Given the description of an element on the screen output the (x, y) to click on. 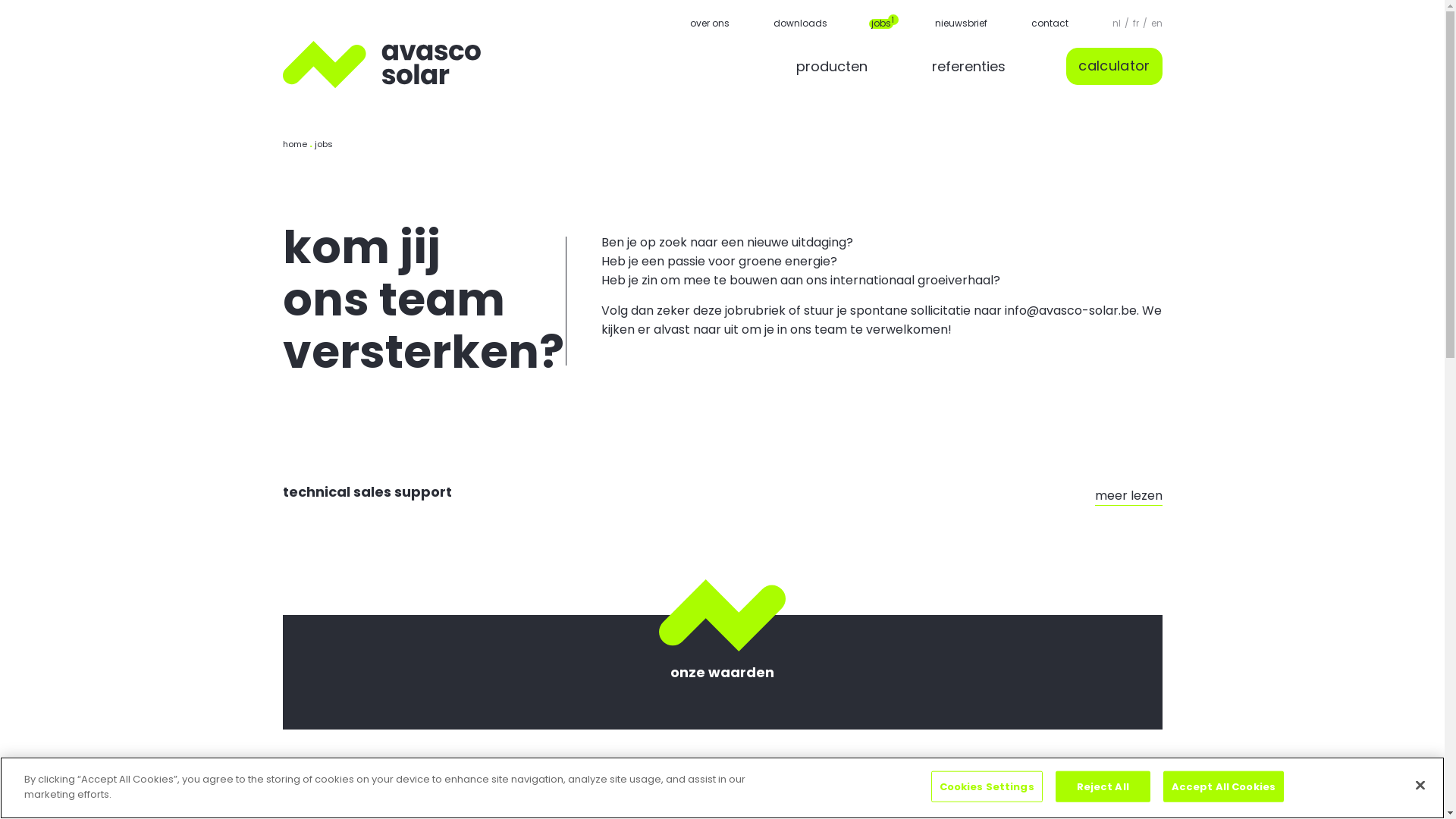
calculator Element type: text (1113, 65)
downloads Element type: text (800, 22)
nl Element type: text (1115, 22)
over ons Element type: text (709, 22)
contact Element type: text (1049, 22)
producten Element type: text (831, 65)
referenties Element type: text (968, 65)
Cookies Settings Element type: text (986, 787)
fr Element type: text (1135, 22)
Overslaan en naar de inhoud gaan Element type: text (0, 0)
nieuwsbrief Element type: text (960, 22)
jobs Element type: text (880, 22)
home Element type: text (294, 144)
technical sales support
meer lezen Element type: text (721, 496)
Reject All Element type: text (1102, 787)
en Element type: text (1156, 22)
Accept All Cookies Element type: text (1223, 787)
